Given the description of an element on the screen output the (x, y) to click on. 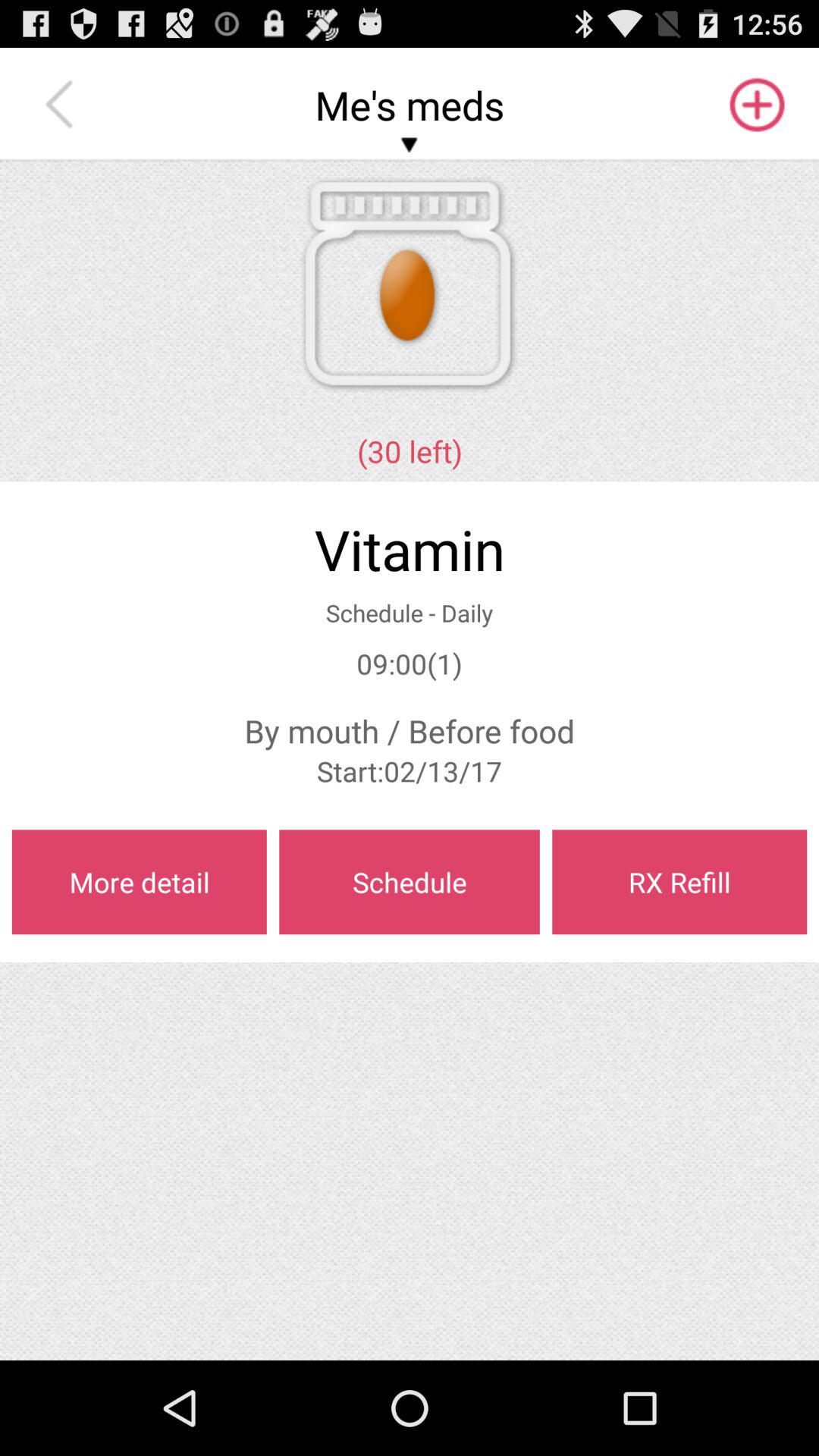
launch the item to the right of the me's meds app (755, 104)
